Given the description of an element on the screen output the (x, y) to click on. 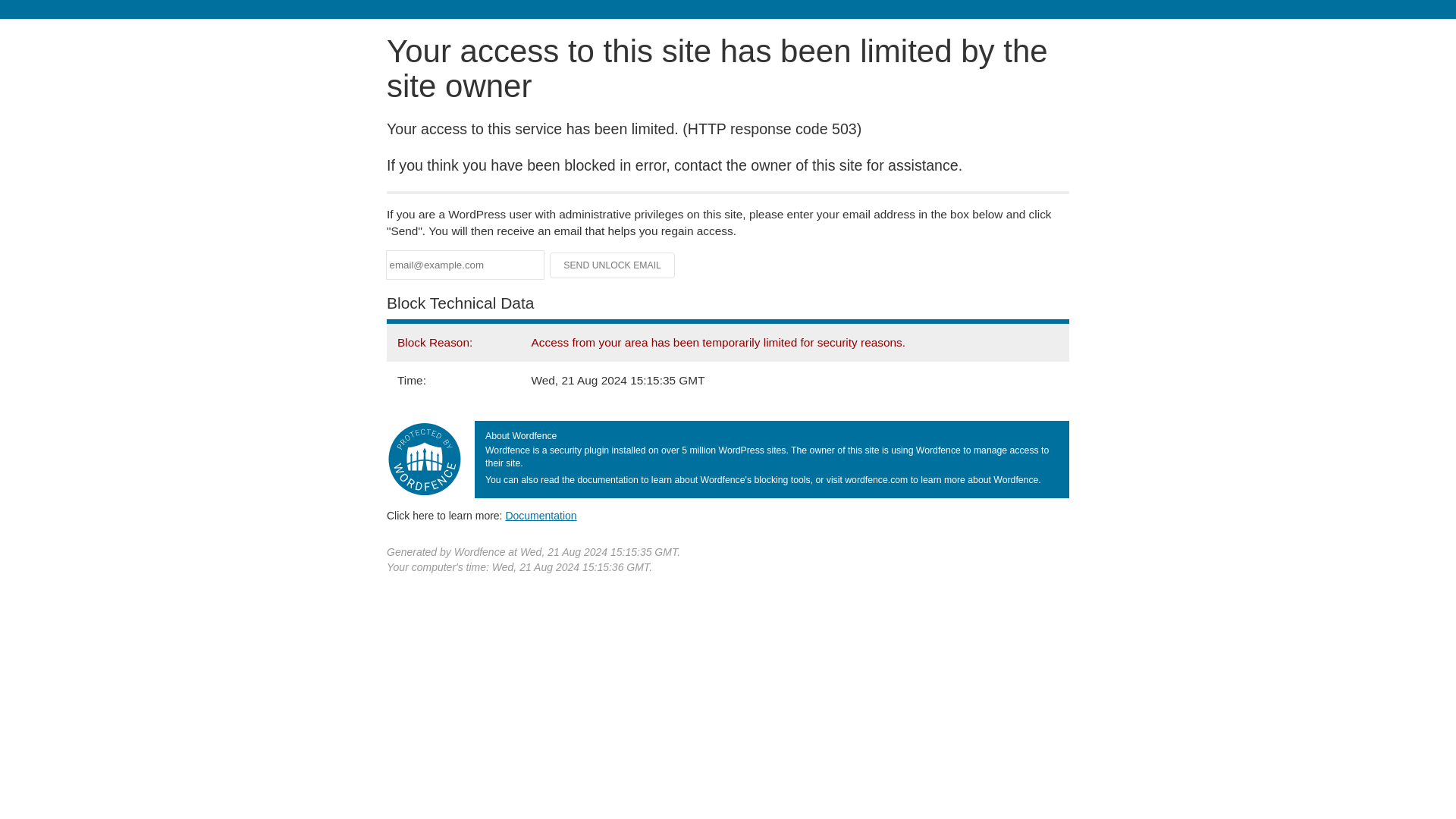
Documentation (540, 515)
Send Unlock Email (612, 265)
Send Unlock Email (612, 265)
